Given the description of an element on the screen output the (x, y) to click on. 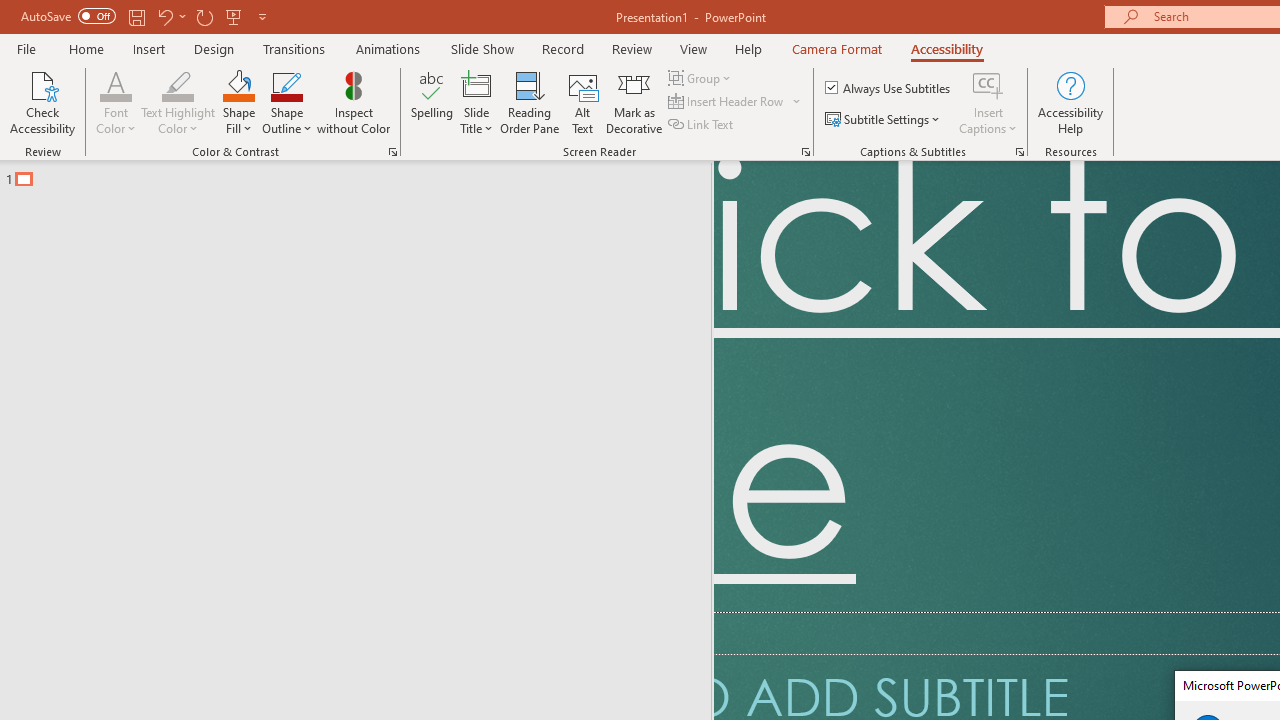
Insert Captions (988, 102)
Subtitle Settings (884, 119)
